Given the description of an element on the screen output the (x, y) to click on. 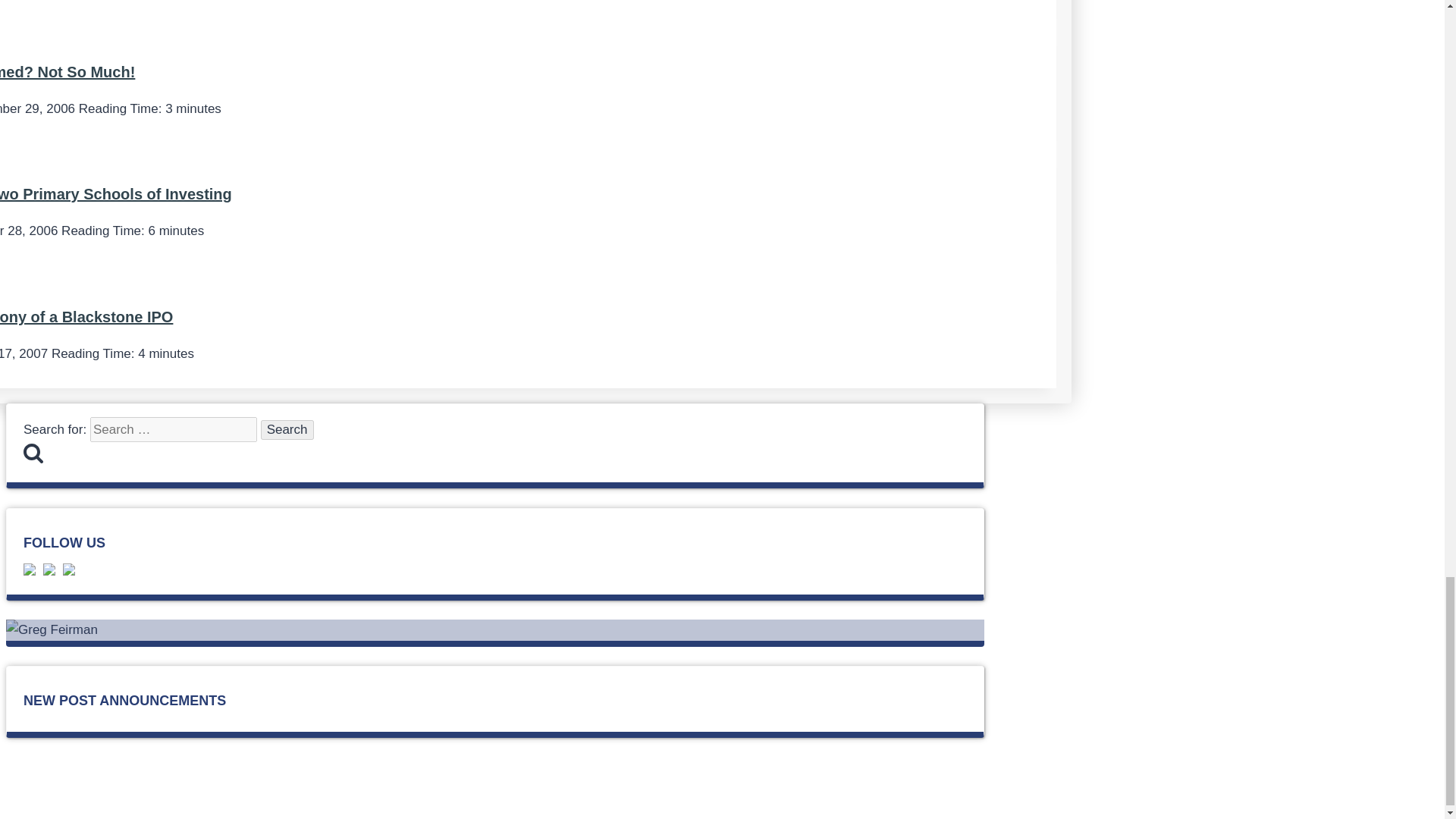
Search (287, 429)
Search (287, 429)
Search (33, 452)
The Irony of a Blackstone IPO (86, 316)
The Two Primary Schools of Investing (115, 193)
Charmed? Not So Much! (67, 71)
LEARN MORE (503, 792)
Search (287, 429)
